Given the description of an element on the screen output the (x, y) to click on. 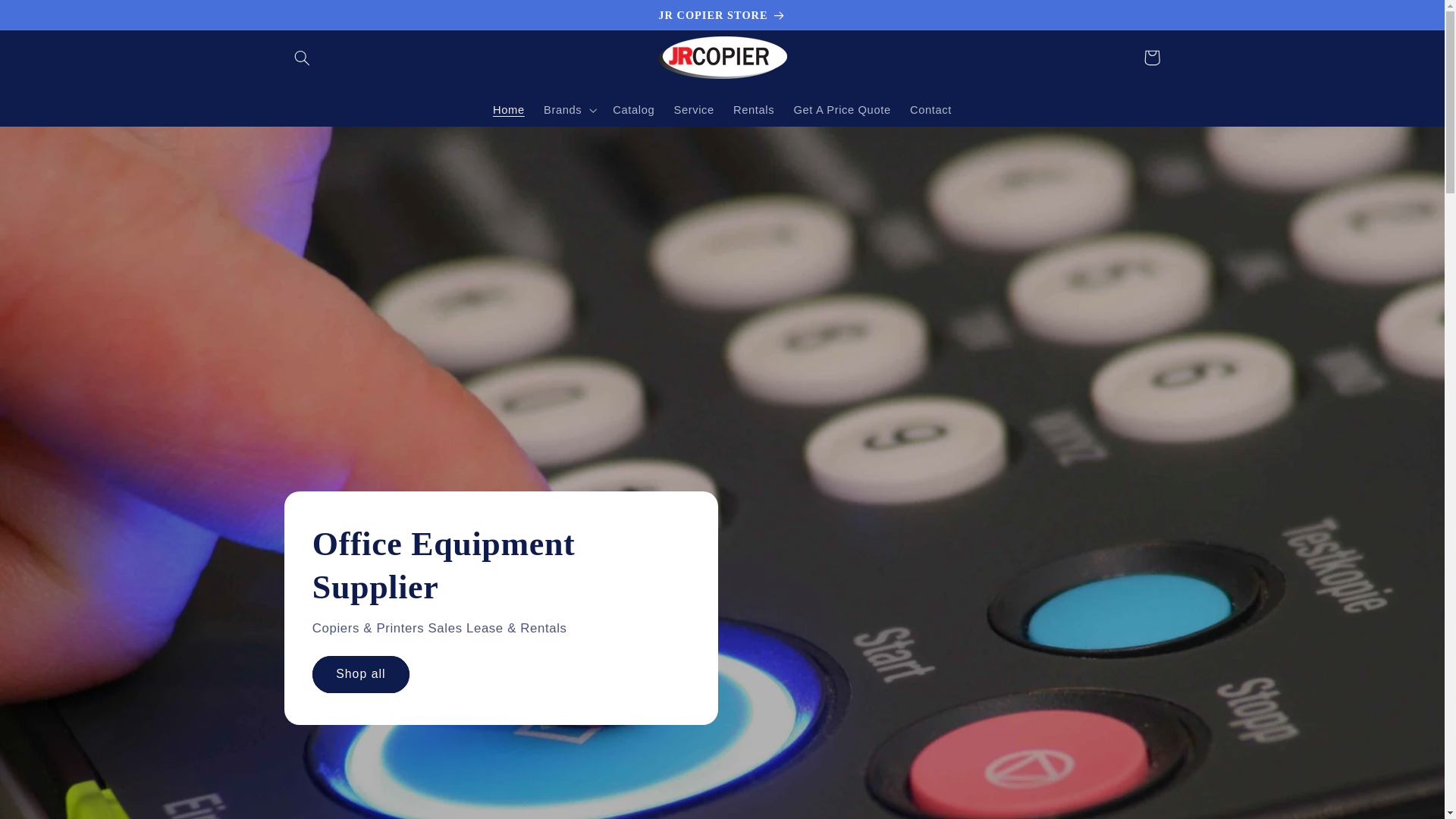
Rentals (753, 109)
Get A Price Quote (841, 109)
Home (508, 109)
Contact (929, 109)
Catalog (633, 109)
Skip to content (48, 18)
Service (693, 109)
Cart (1151, 57)
